Given the description of an element on the screen output the (x, y) to click on. 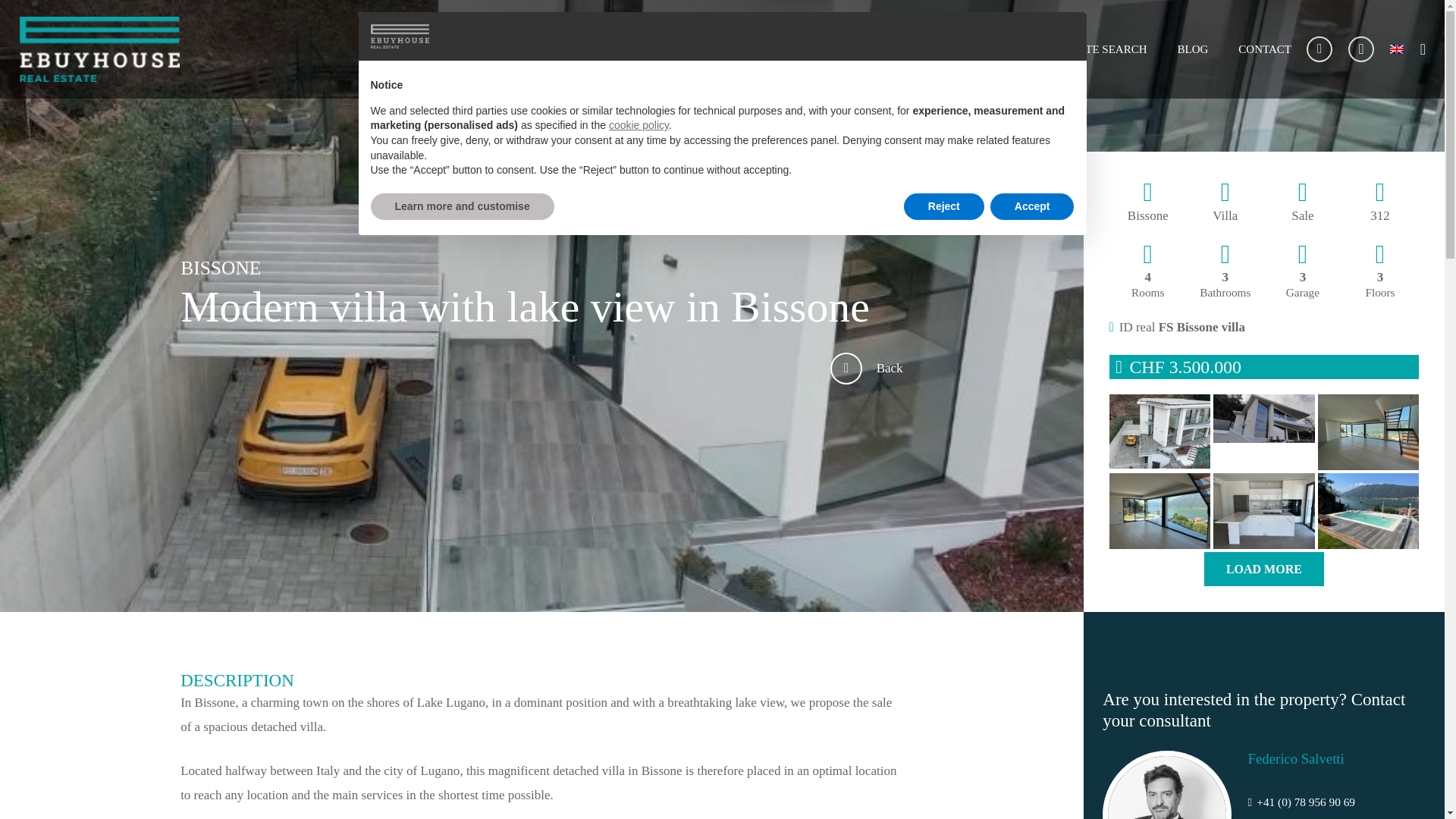
nuovo render (1159, 431)
CONTACT (1264, 48)
Back (889, 368)
REAL ESTATE SEARCH (1086, 48)
Search properties (889, 368)
LOAD MORE (1263, 569)
Instagram (1361, 49)
Search properties (852, 368)
BLOG (1192, 48)
HOMEPAGE (878, 48)
Facebook (1319, 49)
ABOUT US (967, 48)
render nuovo 3 (1263, 431)
